Given the description of an element on the screen output the (x, y) to click on. 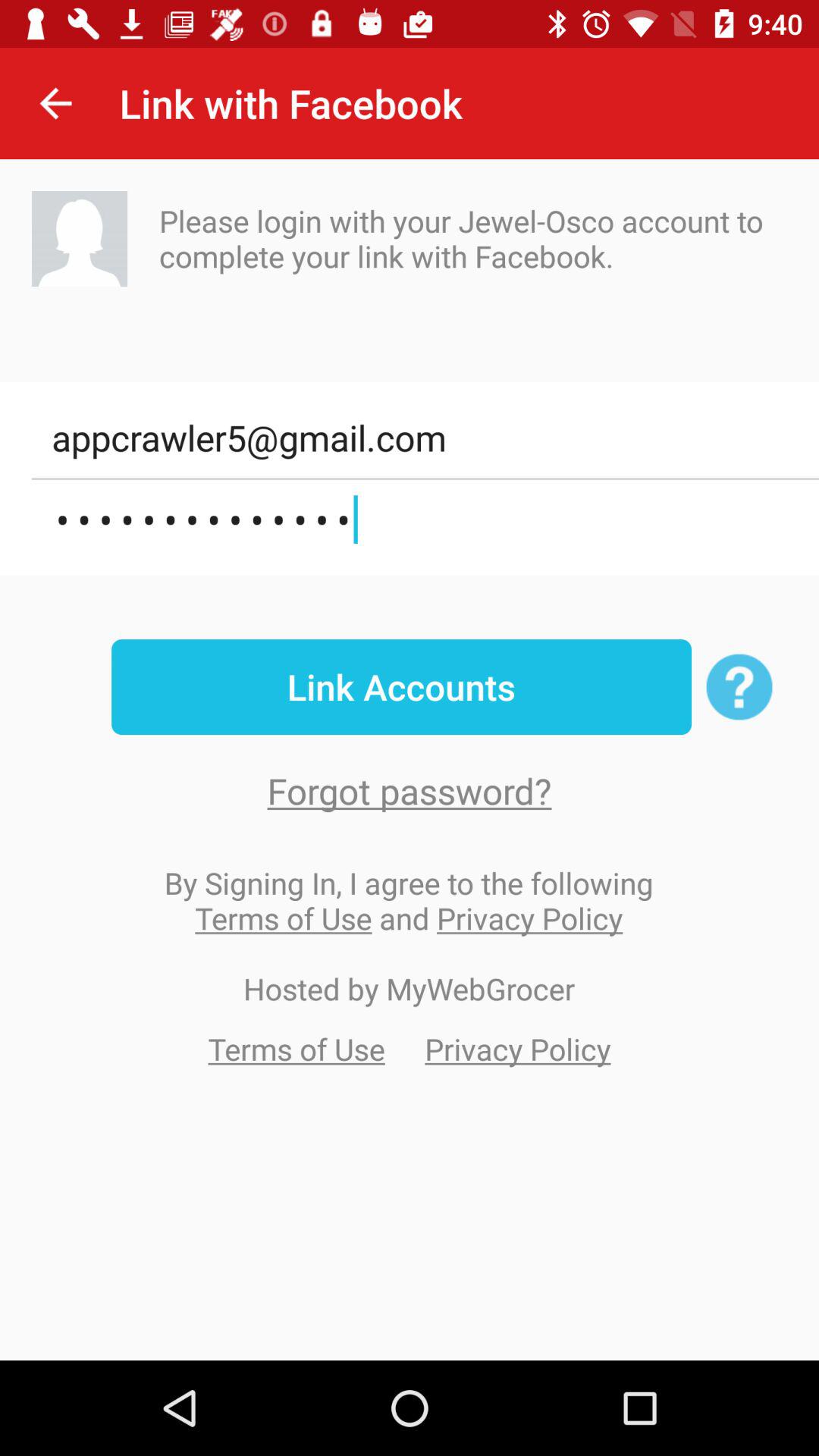
click icon below the forgot password? (408, 900)
